Given the description of an element on the screen output the (x, y) to click on. 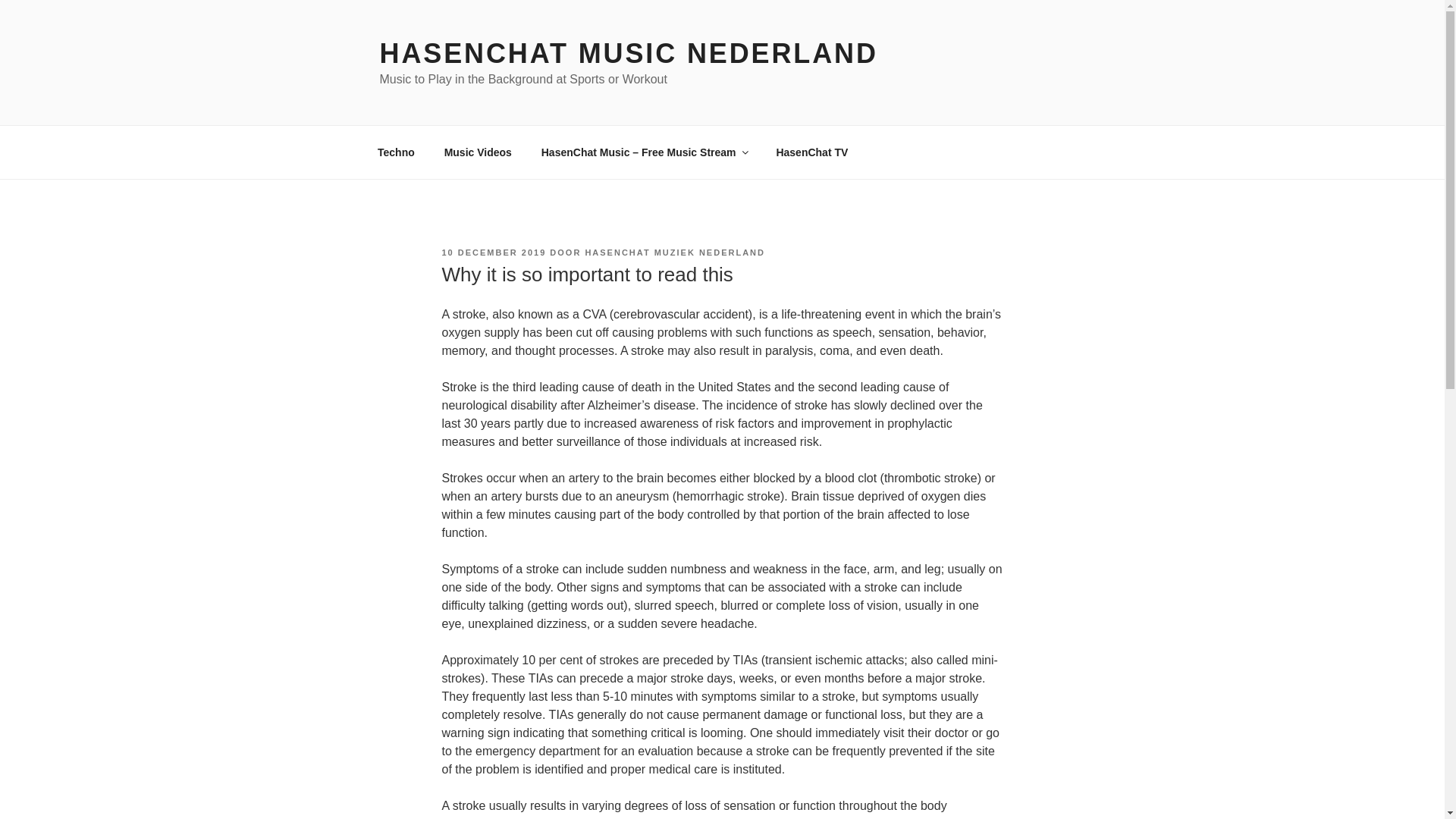
HASENCHAT MUSIC NEDERLAND (627, 52)
HASENCHAT MUZIEK NEDERLAND (675, 252)
Techno (396, 151)
HasenChat TV (811, 151)
10 DECEMBER 2019 (493, 252)
Music Videos (477, 151)
